Given the description of an element on the screen output the (x, y) to click on. 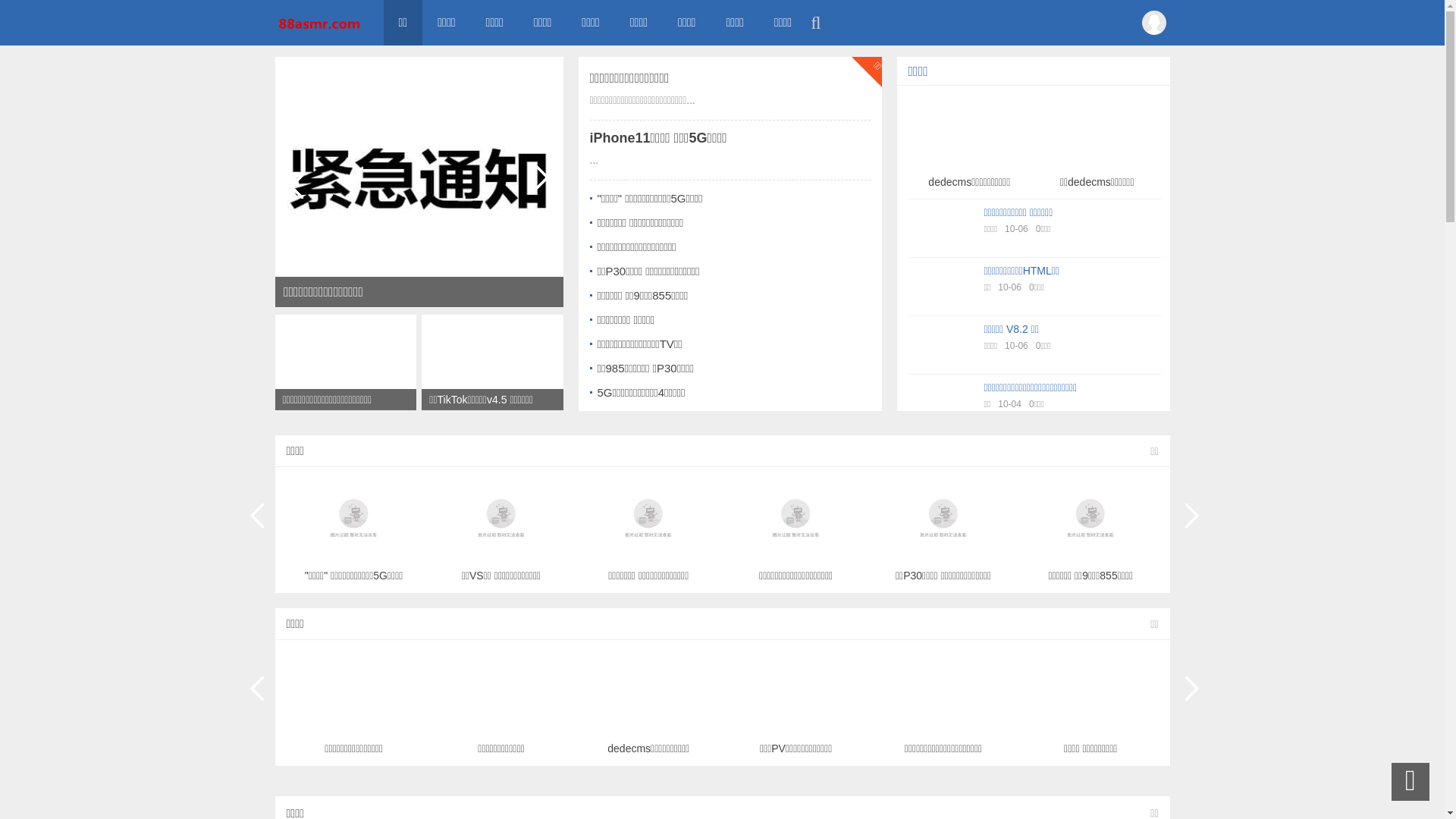
... Element type: text (594, 159)
